Given the description of an element on the screen output the (x, y) to click on. 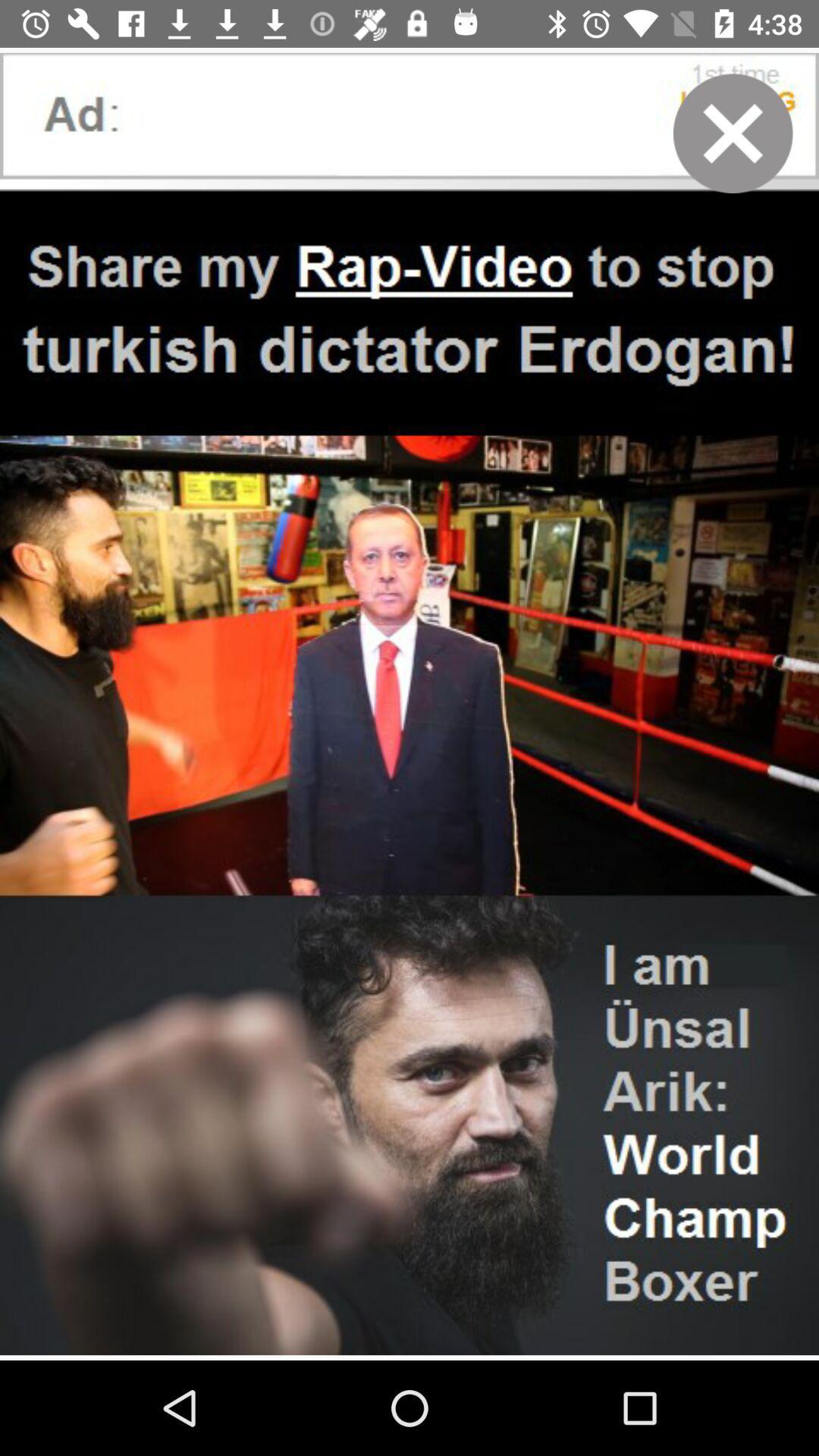
tap the icon at the center (409, 703)
